Given the description of an element on the screen output the (x, y) to click on. 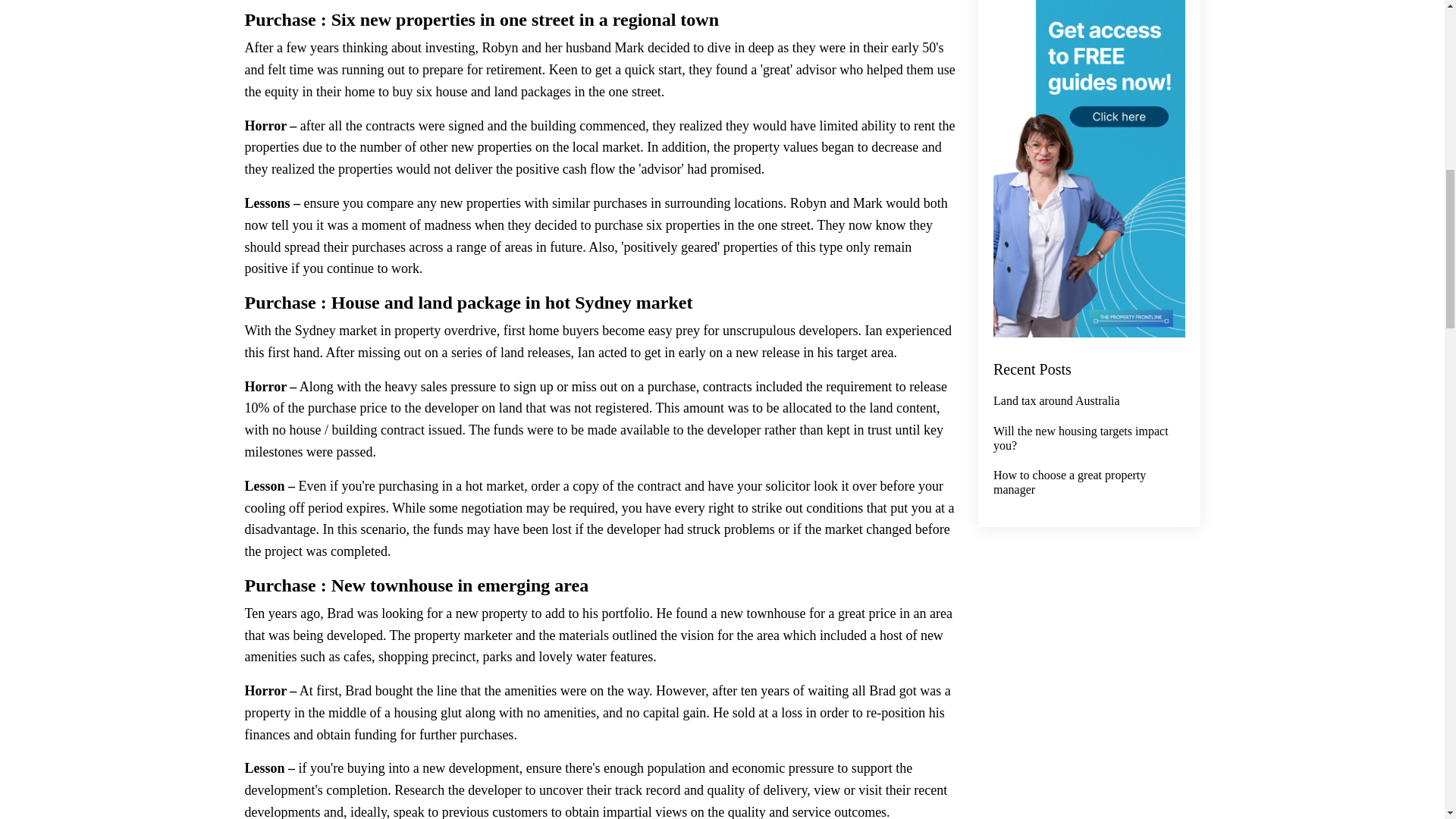
How to choose a great property manager (1088, 481)
Will the new housing targets impact you? (1088, 438)
Land tax around Australia (1088, 400)
